Given the description of an element on the screen output the (x, y) to click on. 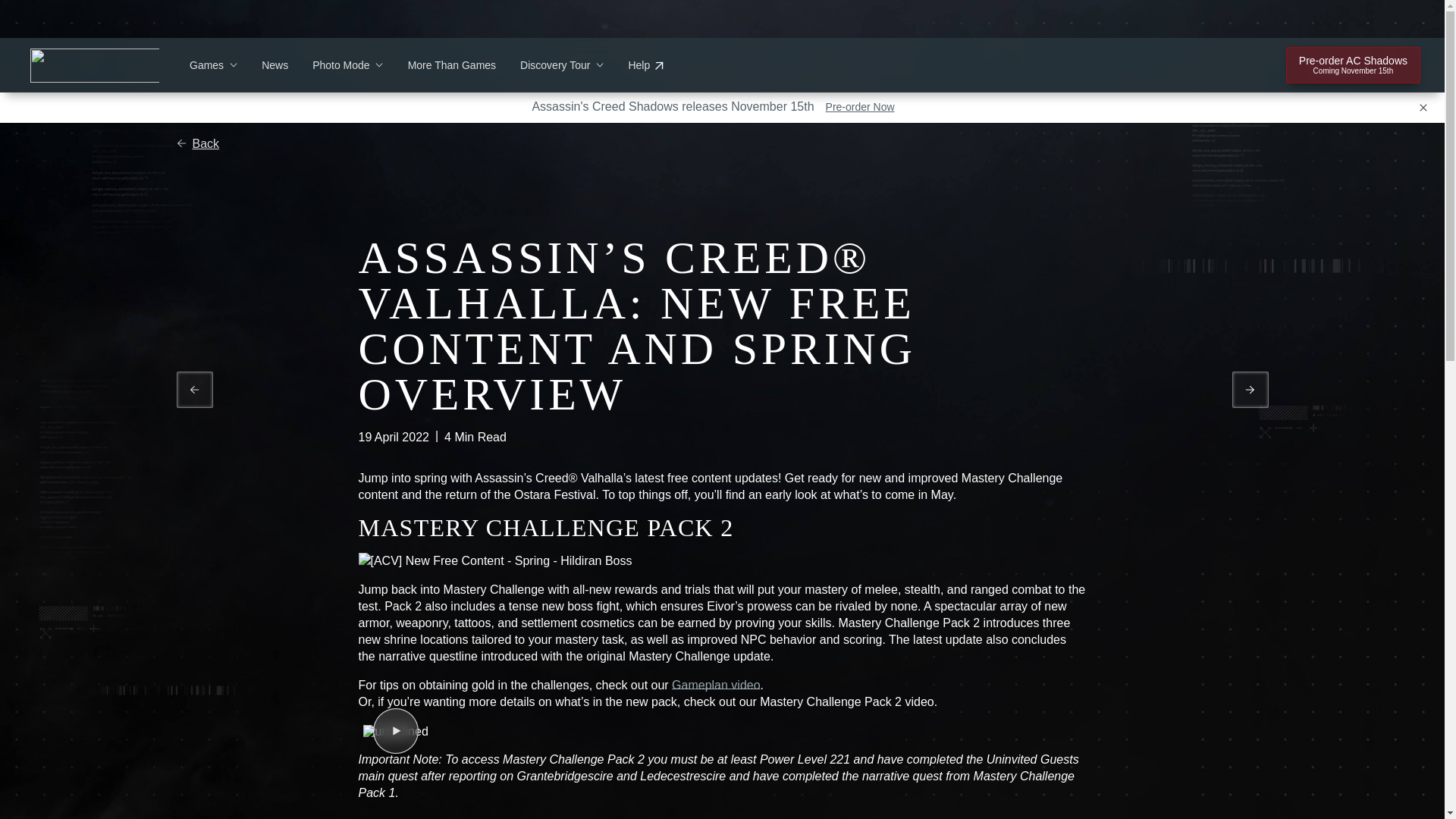
Photo Mode (348, 64)
Pre-order Now (860, 106)
More Than Games (451, 64)
Help (645, 64)
Back (1353, 64)
Games (197, 143)
Discovery Tour (213, 64)
Gameplan video (561, 64)
